Given the description of an element on the screen output the (x, y) to click on. 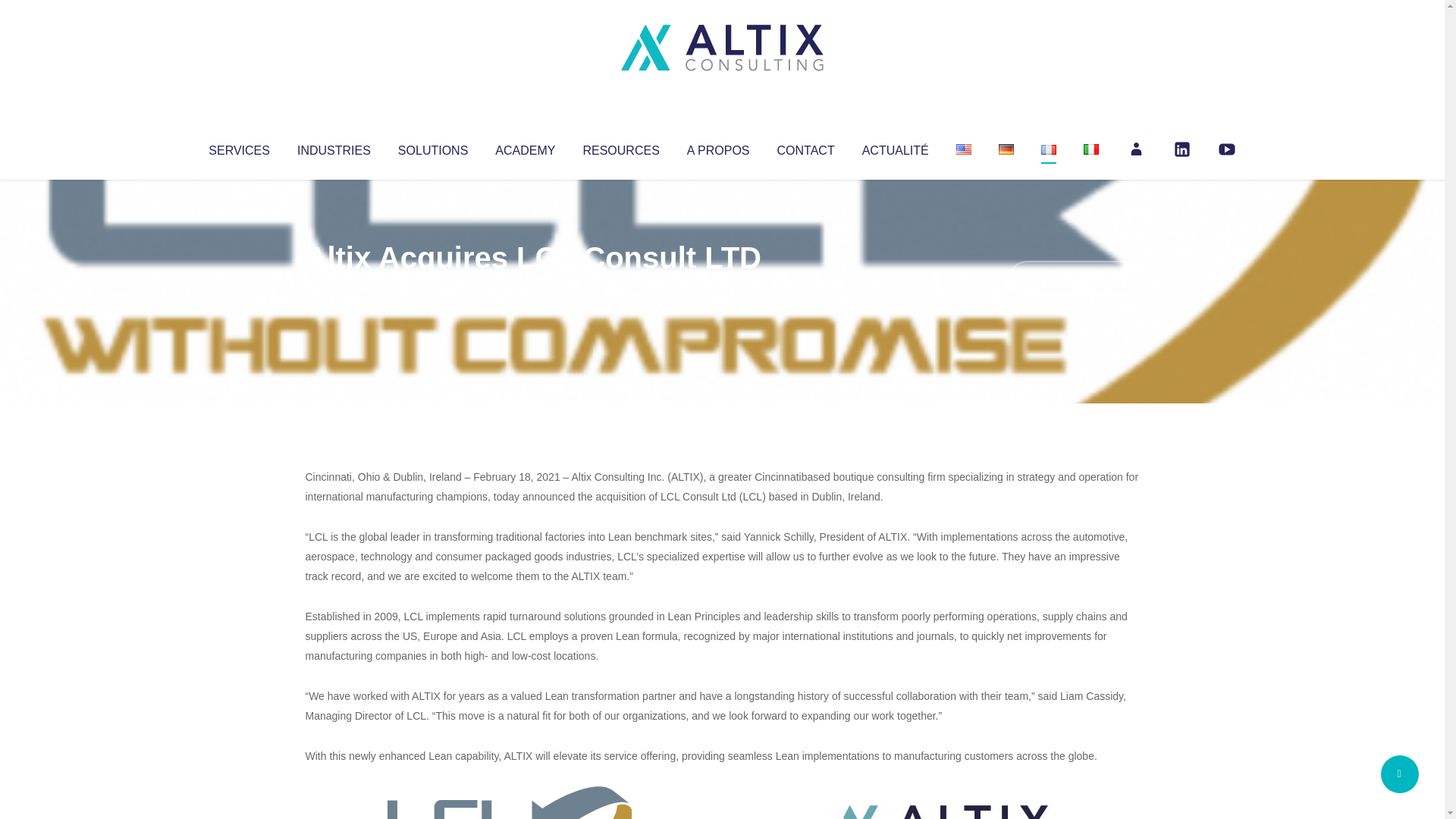
No Comments (1073, 278)
SERVICES (238, 146)
INDUSTRIES (334, 146)
Articles par Altix (333, 287)
ACADEMY (524, 146)
RESOURCES (620, 146)
A PROPOS (718, 146)
SOLUTIONS (432, 146)
Altix (333, 287)
Uncategorized (530, 287)
